Given the description of an element on the screen output the (x, y) to click on. 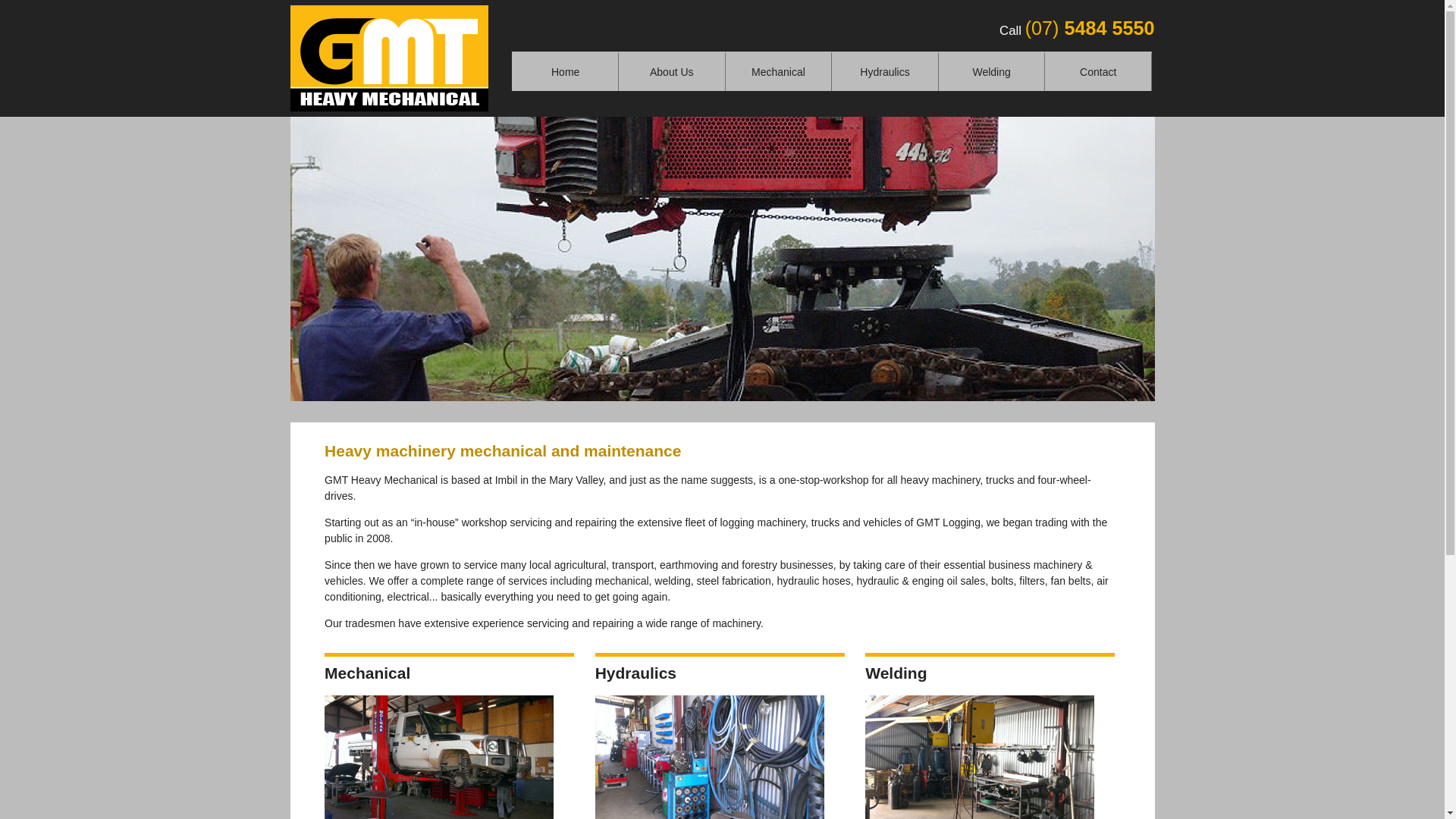
About Us Element type: text (671, 71)
GMT Heavy Mechanical Element type: hover (389, 58)
Hydraulics Element type: text (884, 71)
Mechanical Element type: text (778, 71)
Home Element type: text (565, 71)
Contact Element type: text (1097, 71)
Welding Element type: text (991, 71)
(07) 5484 5550 Element type: text (1089, 27)
